Given the description of an element on the screen output the (x, y) to click on. 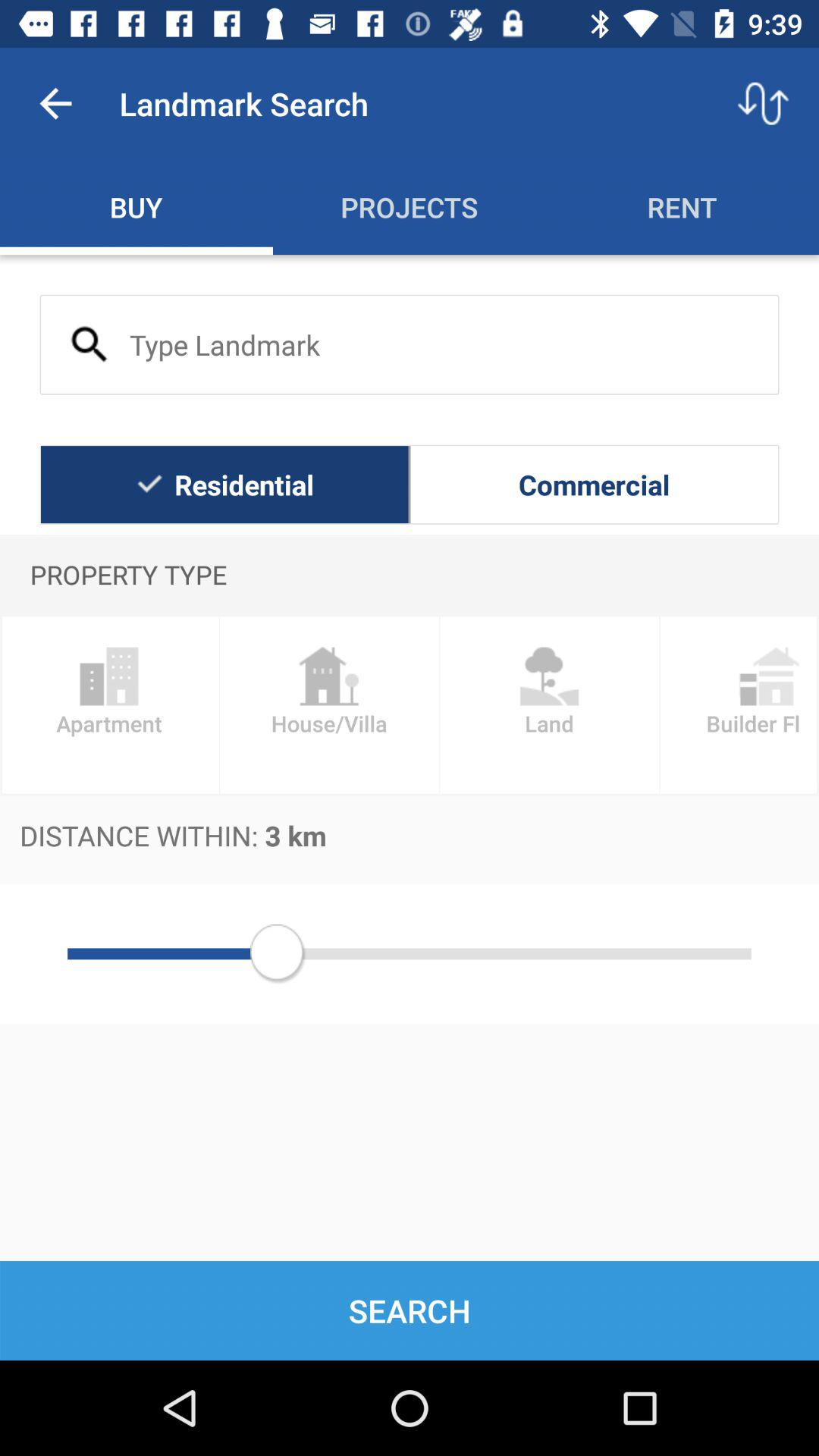
launch builder floor item (739, 704)
